Given the description of an element on the screen output the (x, y) to click on. 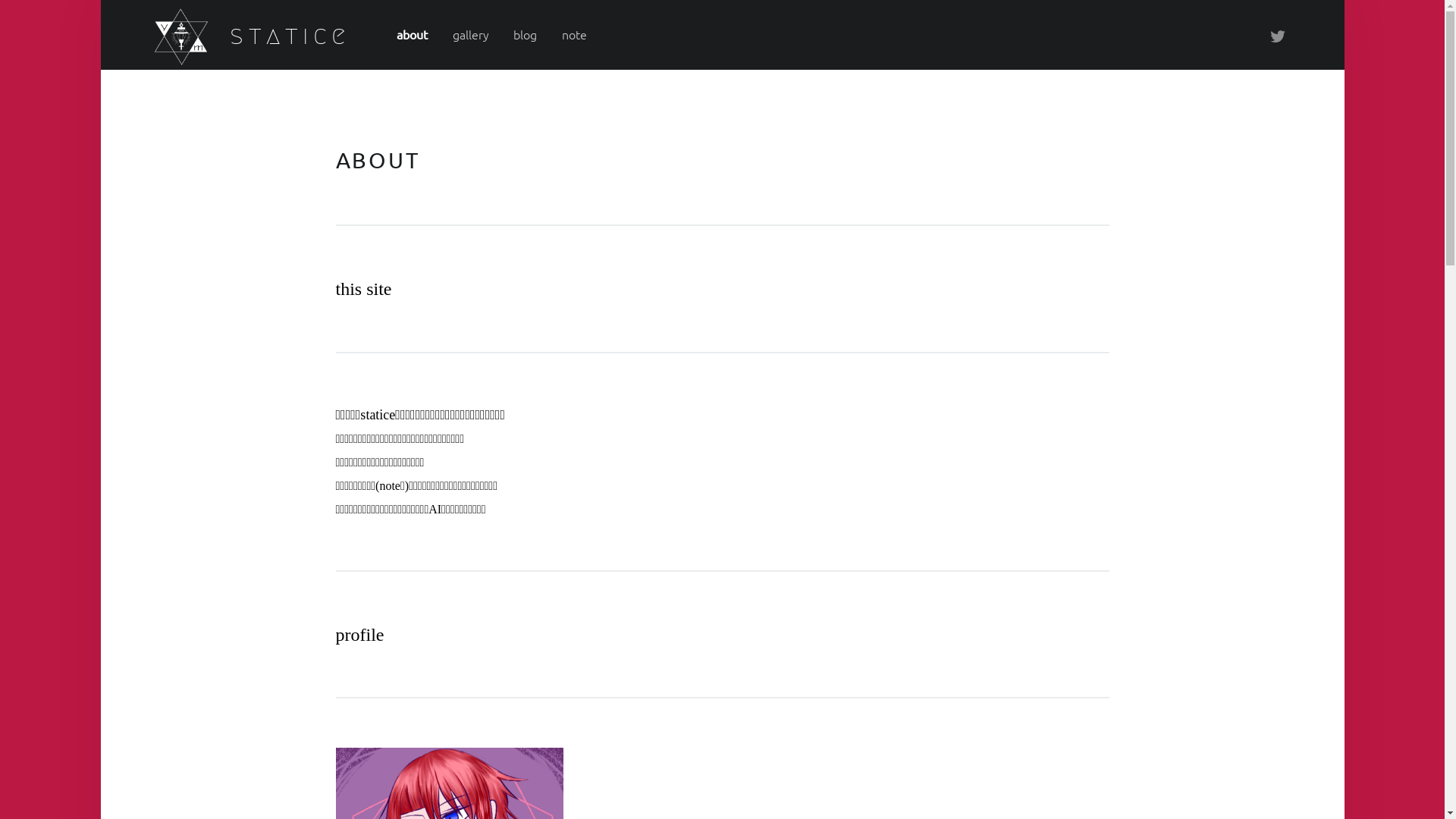
Twitter Element type: text (1277, 34)
blog Element type: text (524, 34)
statice Element type: text (290, 35)
note Element type: text (573, 34)
about Element type: text (411, 34)
gallery Element type: text (470, 34)
